Given the description of an element on the screen output the (x, y) to click on. 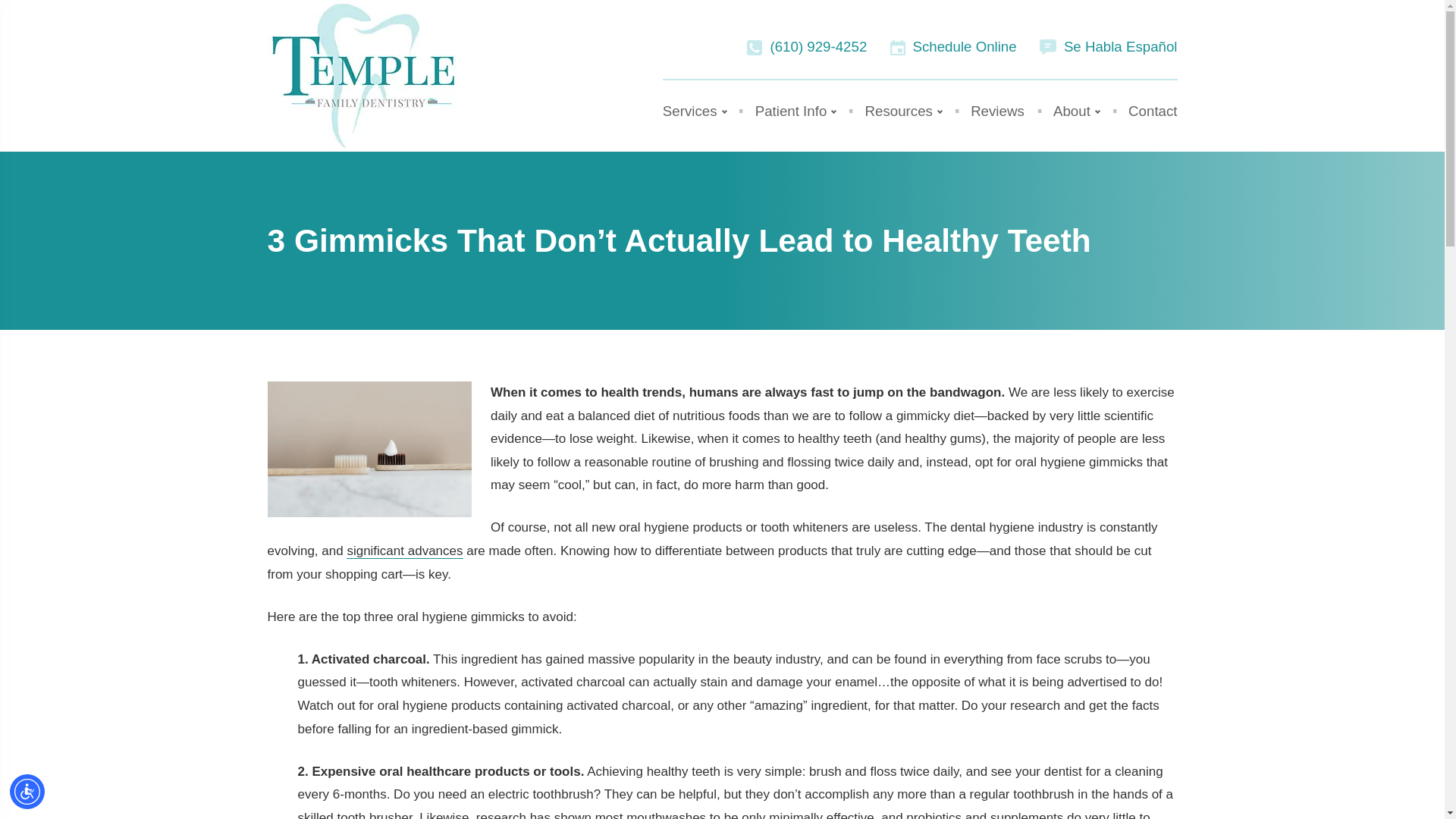
CalendarSchedule Online (952, 46)
Resources (17, 33)
Services (697, 111)
